Given the description of an element on the screen output the (x, y) to click on. 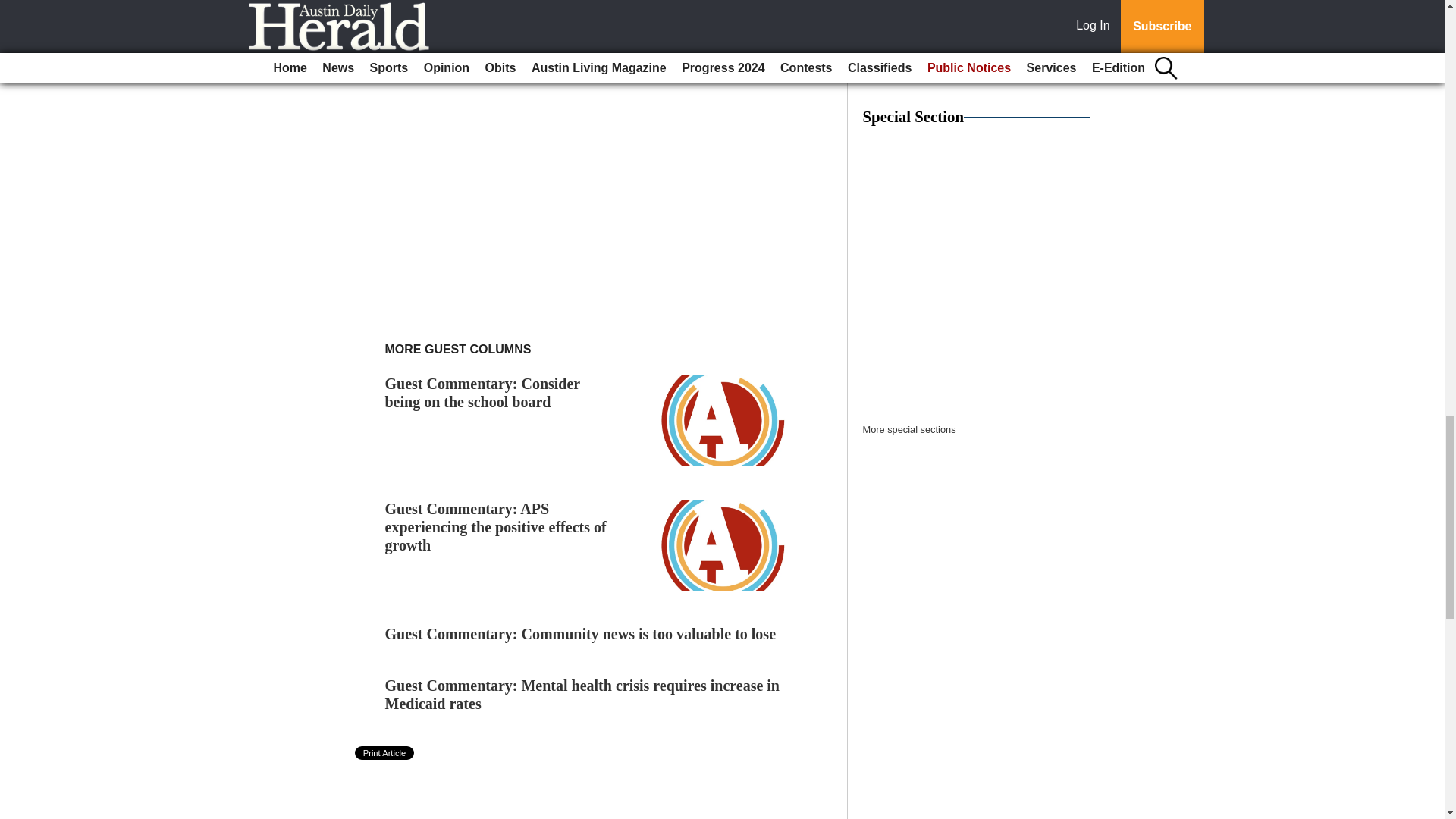
Guest Commentary: Community news is too valuable to lose (580, 633)
Guest Commentary: Consider being on the school board (482, 392)
